Given the description of an element on the screen output the (x, y) to click on. 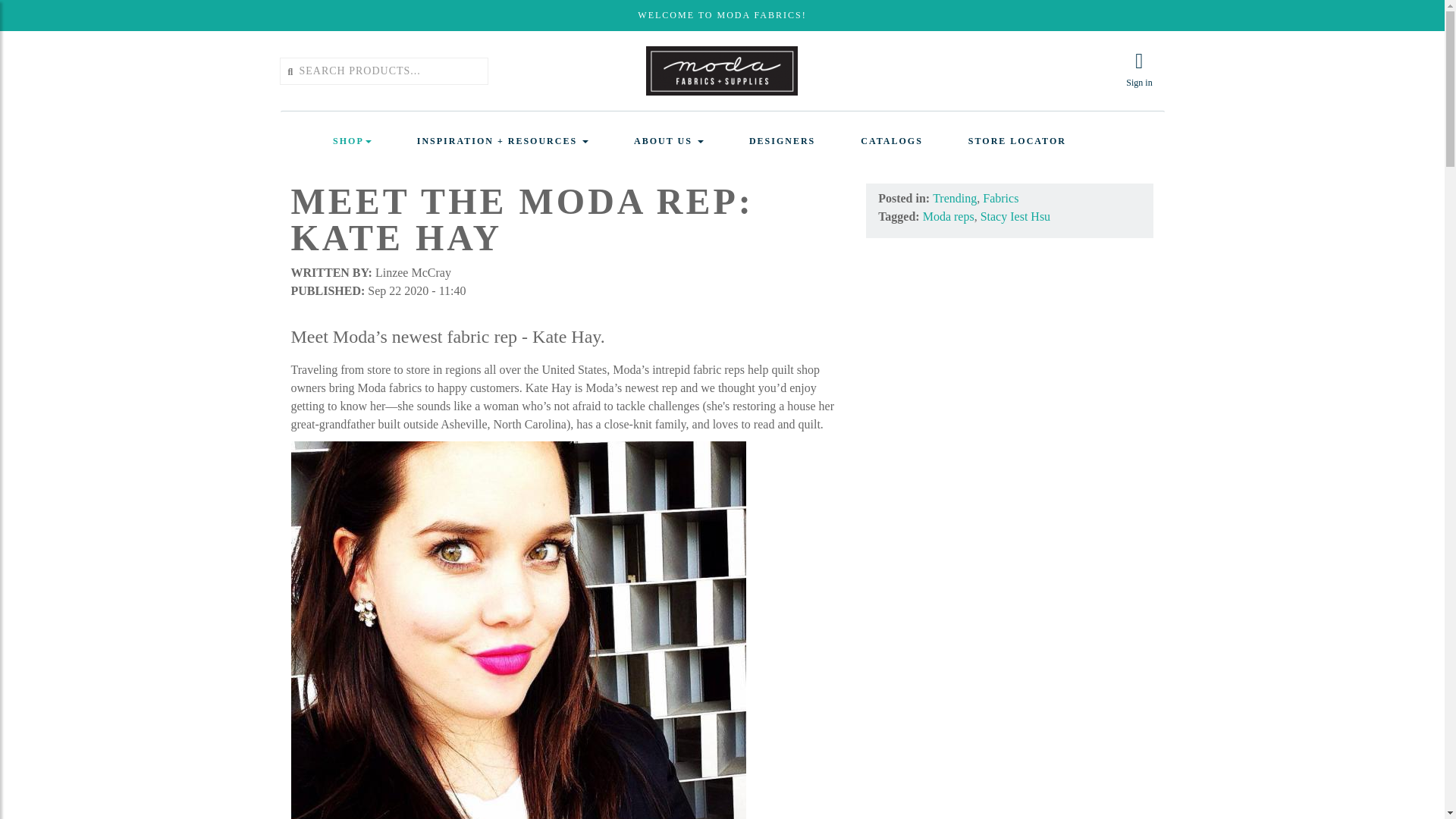
Sign in (1138, 69)
modafabrics.com (721, 69)
modafabrics.com (721, 70)
SHOP (352, 141)
